Given the description of an element on the screen output the (x, y) to click on. 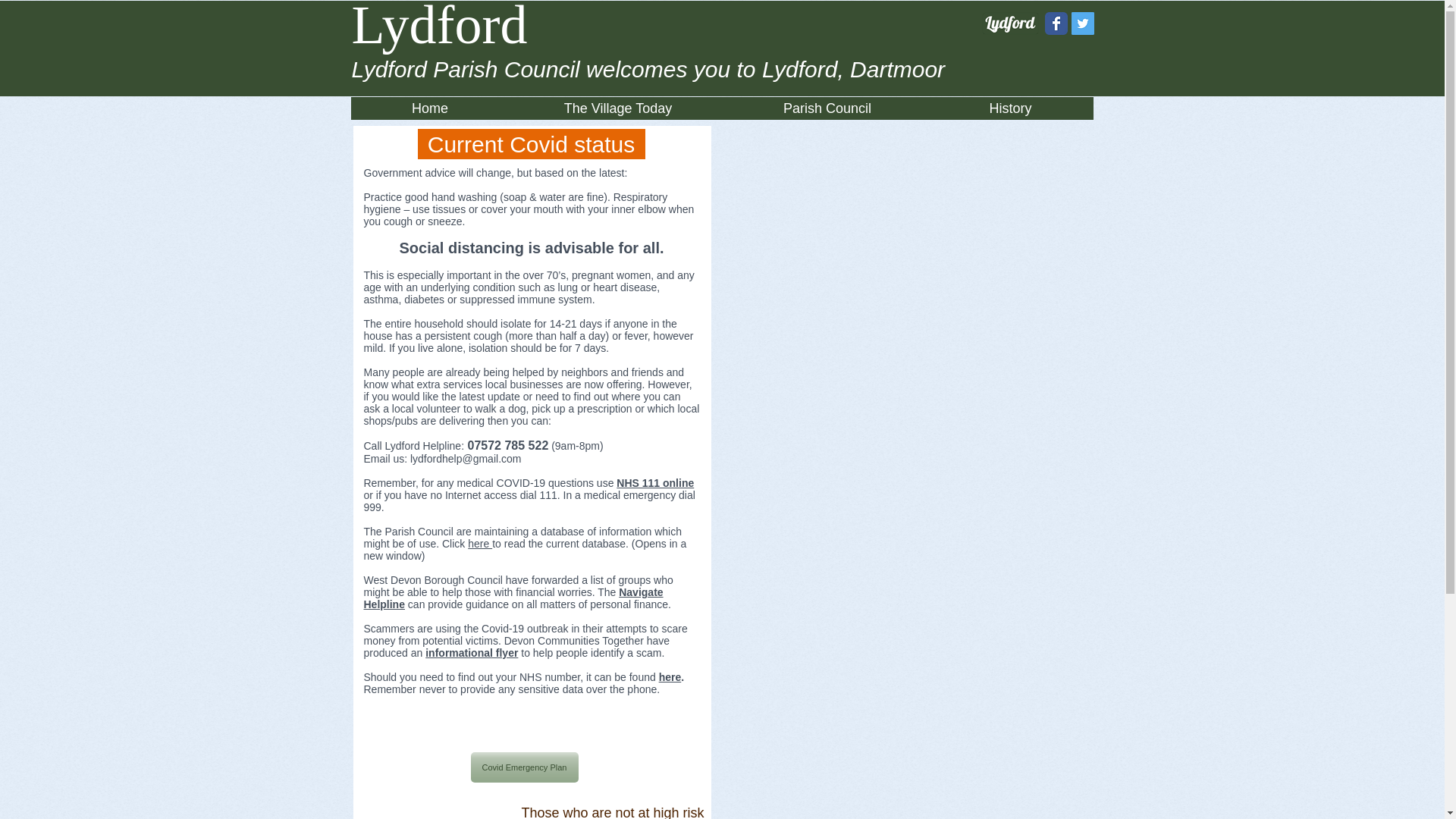
Home (429, 113)
History (1010, 113)
informational flyer (471, 653)
here (479, 543)
Current Covid status (530, 143)
list of groups (620, 580)
Covid Emergency Plan (524, 767)
NHS 111 online (654, 482)
here (670, 676)
The Village Today (617, 113)
Parish Council (826, 113)
Navigate Helpline (513, 598)
